Given the description of an element on the screen output the (x, y) to click on. 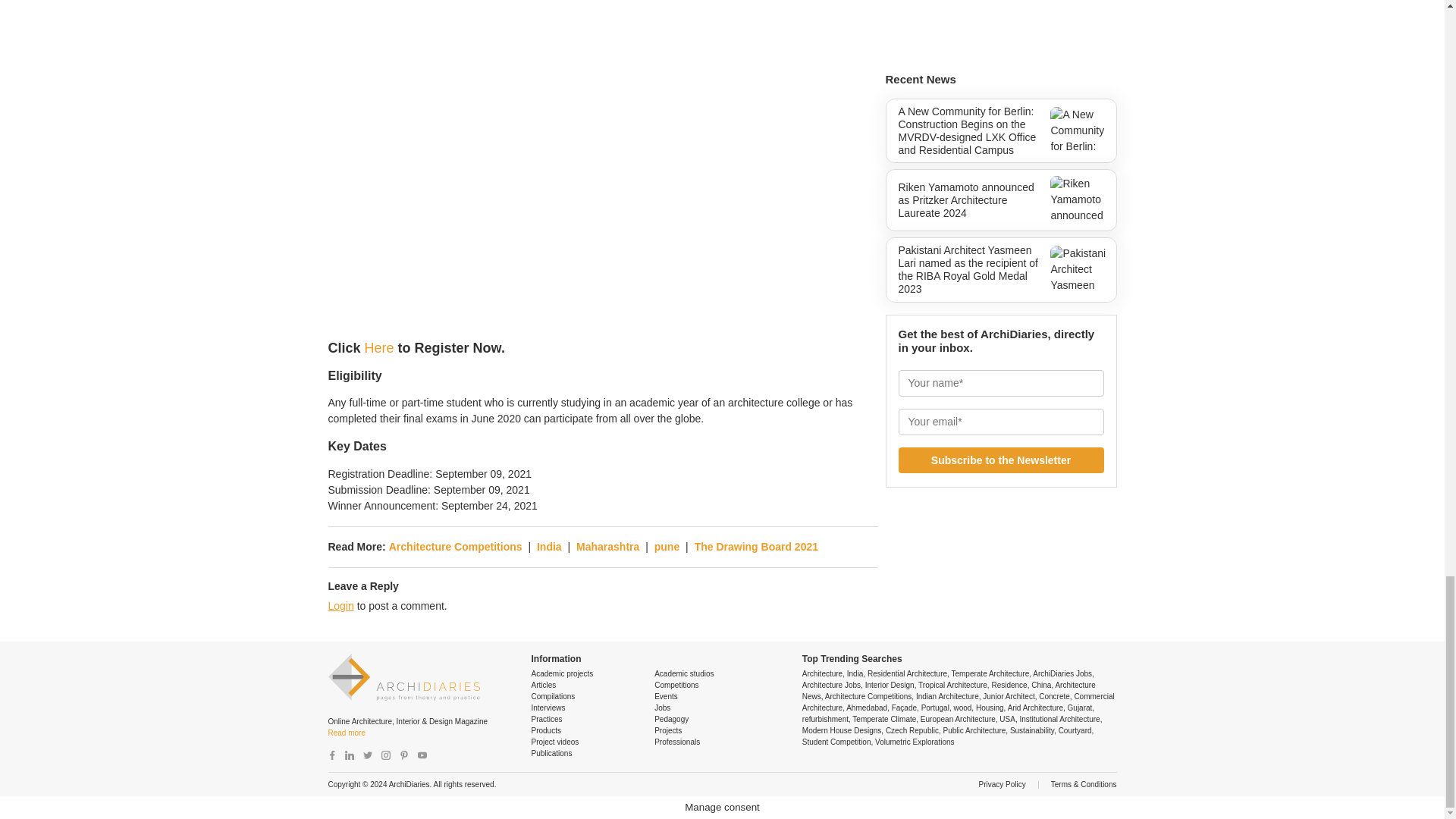
Facebook (331, 755)
Twitter (367, 755)
Instagram (385, 755)
Linkedin (349, 755)
